Given the description of an element on the screen output the (x, y) to click on. 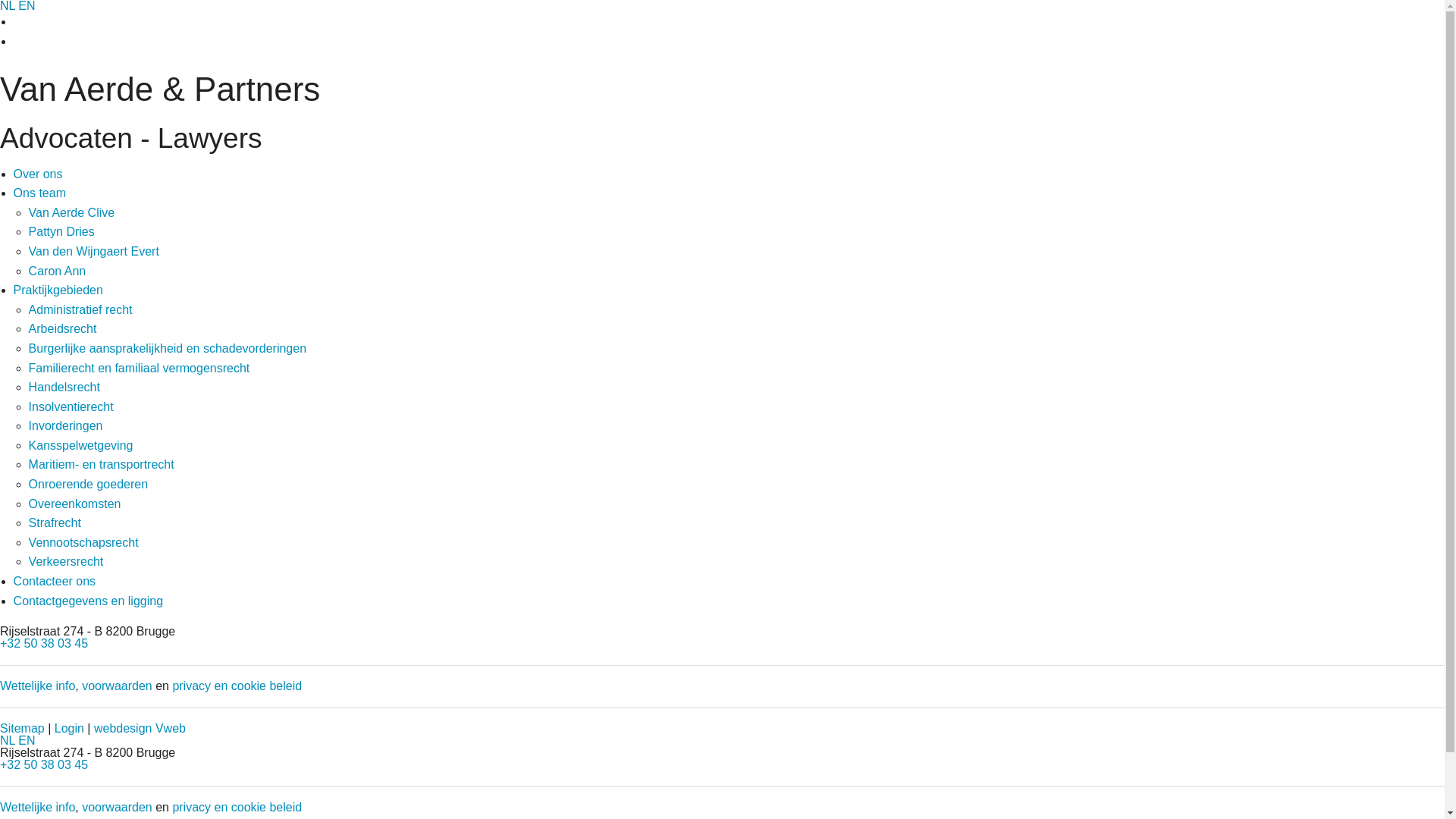
Wettelijke info Element type: text (37, 806)
EN Element type: text (26, 740)
Insolventierecht Element type: text (70, 406)
NL Element type: text (7, 740)
Handelsrecht Element type: text (64, 386)
Over ons Element type: text (37, 173)
Kansspelwetgeving Element type: text (80, 445)
Burgerlijke aansprakelijkheid en schadevorderingen Element type: text (167, 348)
Contactgegevens en ligging Element type: text (88, 600)
Vennootschapsrecht Element type: text (83, 542)
+32 50 38 03 45 Element type: text (43, 764)
Contacteer ons Element type: text (54, 580)
Administratief recht Element type: text (80, 309)
Caron Ann Element type: text (57, 270)
Van Aerde Clive Element type: text (71, 212)
Maritiem- en transportrecht Element type: text (101, 464)
Onroerende goederen Element type: text (87, 483)
Pattyn Dries Element type: text (61, 231)
Verkeersrecht Element type: text (65, 561)
Arbeidsrecht Element type: text (62, 328)
Wettelijke info Element type: text (37, 685)
privacy en cookie beleid Element type: text (236, 806)
voorwaarden Element type: text (116, 685)
+32 50 38 03 45 Element type: text (43, 643)
Ons team Element type: text (39, 192)
Login Element type: text (69, 727)
Van Aerde & Partners
Advocaten - Lawyers Element type: text (722, 111)
Sitemap Element type: text (22, 727)
Invorderingen Element type: text (65, 425)
Overeenkomsten Element type: text (74, 503)
Familierecht en familiaal vermogensrecht Element type: text (139, 367)
Van den Wijngaert Evert Element type: text (93, 250)
Strafrecht Element type: text (54, 522)
Praktijkgebieden Element type: text (58, 289)
webdesign Vweb Element type: text (139, 727)
voorwaarden Element type: text (116, 806)
privacy en cookie beleid Element type: text (236, 685)
